Given the description of an element on the screen output the (x, y) to click on. 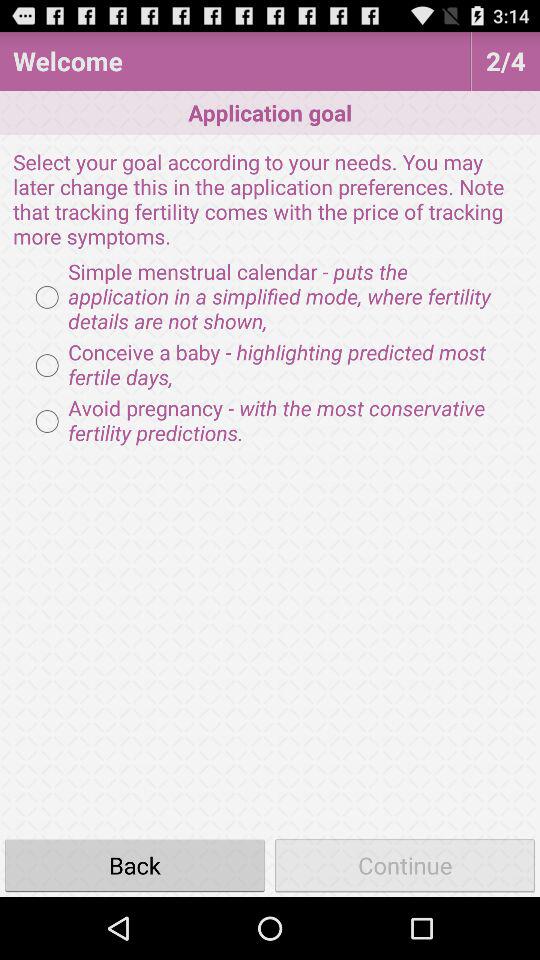
turn on button next to the back button (405, 864)
